Given the description of an element on the screen output the (x, y) to click on. 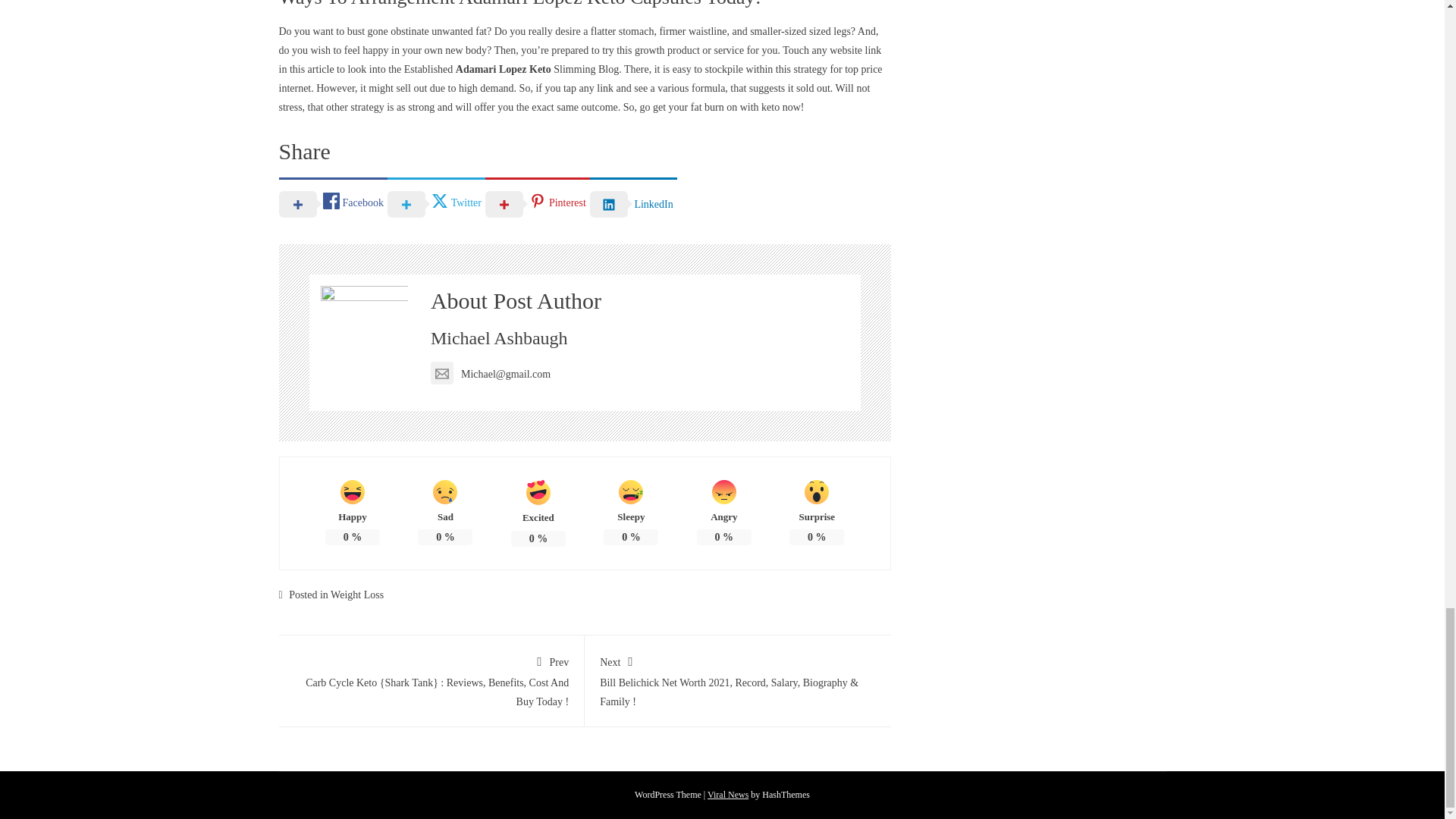
Pinterest (536, 203)
Michael Ashbaugh (498, 338)
Twitter (435, 203)
Weight Loss (357, 594)
Facebook (333, 203)
LinkedIn (633, 203)
